Given the description of an element on the screen output the (x, y) to click on. 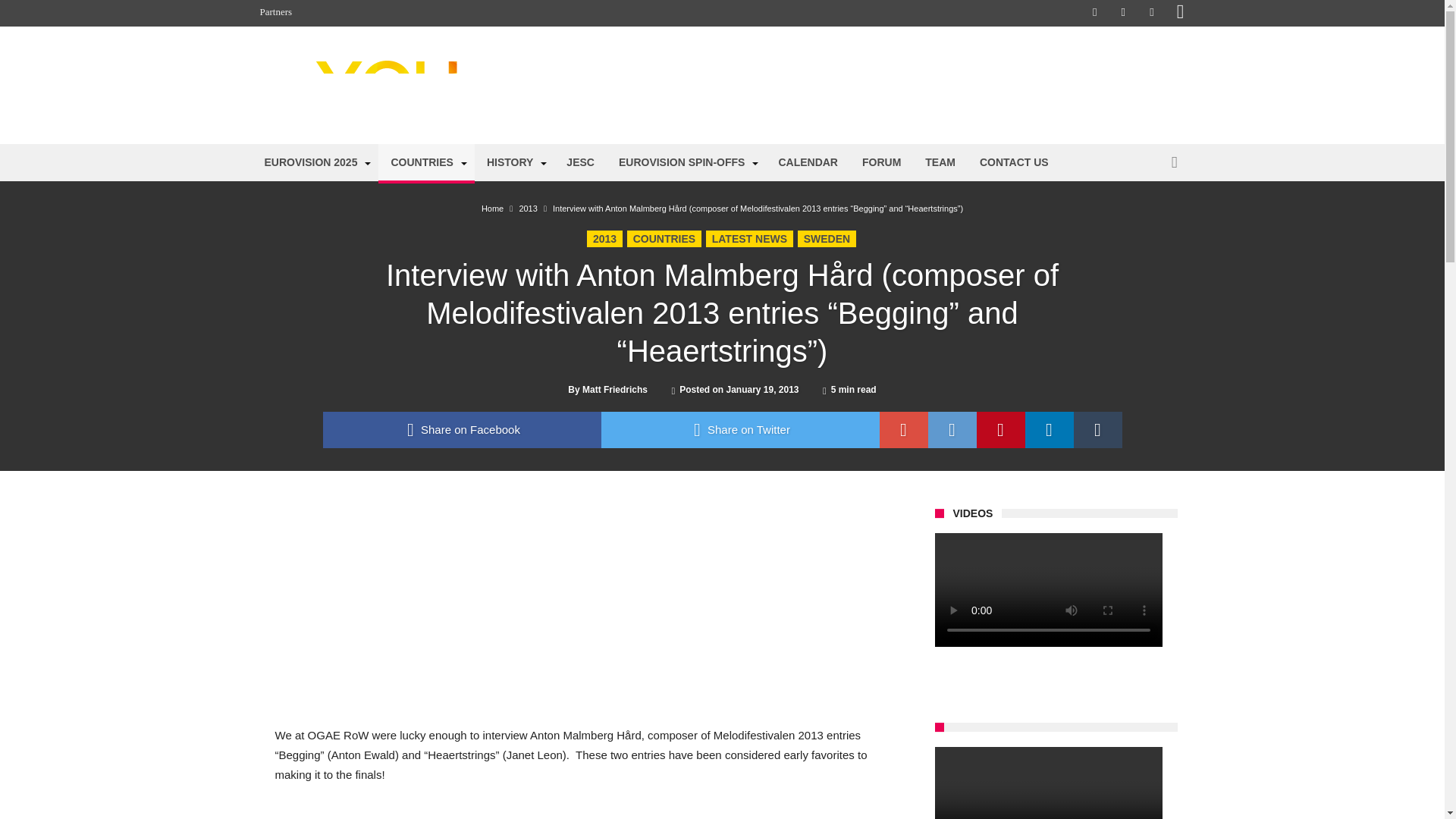
Forum (1133, 84)
instagram (1179, 13)
twitter (739, 429)
Partners (275, 12)
facebook (462, 429)
Youtube (1151, 13)
google (903, 429)
COUNTRIES (426, 162)
Twitter (1122, 13)
escYOUnited (405, 59)
